Given the description of an element on the screen output the (x, y) to click on. 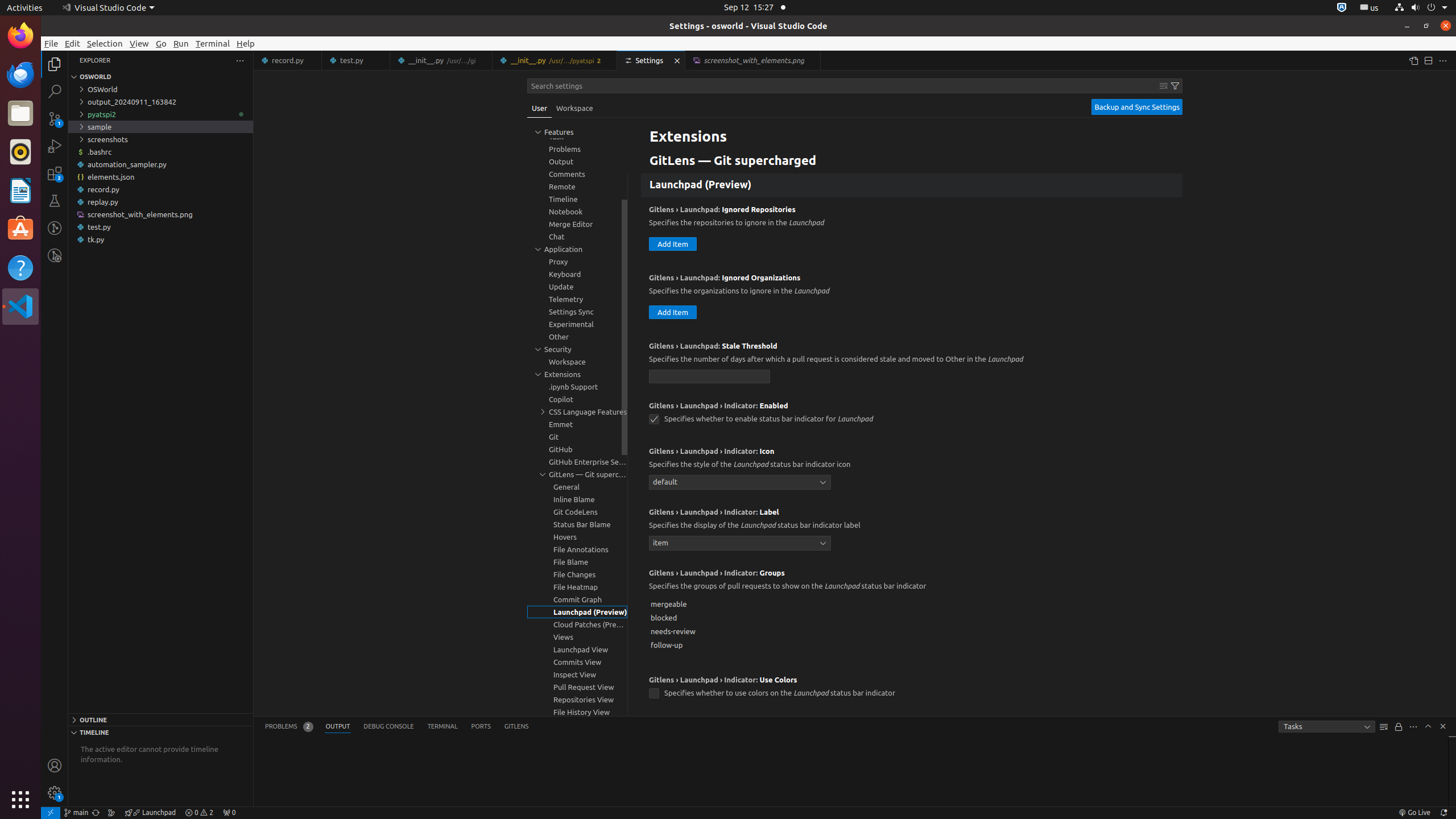
rocket gitlens-unplug Launchpad, GitLens Launchpad ᴘʀᴇᴠɪᴇᴡ    &mdash;    [$(question)](command:gitlens.launchpad.indicator.action?%22info%22 "What is this?") [$(gear)](command:workbench.action.openSettings?%22gitlens.launchpad%22 "Settings")  |  [$(circle-slash) Hide](command:gitlens.launchpad.indicator.action?%22hide%22 "Hide") --- [Launchpad](command:gitlens.launchpad.indicator.action?%info%22 "Learn about Launchpad") organizes your pull requests into actionable groups to help you focus and keep your team unblocked. It's always accessible using the `GitLens: Open Launchpad` command from the Command Palette. --- [Connect an integration](command:gitlens.showLaunchpad?%7B%22source%22%3A%22launchpad-indicator%22%7D "Connect an integration") to get started. Element type: push-button (150, 812)
__init__.py Element type: page-tab (554, 60)
Settings Sync, group Element type: tree-item (577, 311)
List item `needs-review` Element type: list-item (911, 630)
